Given the description of an element on the screen output the (x, y) to click on. 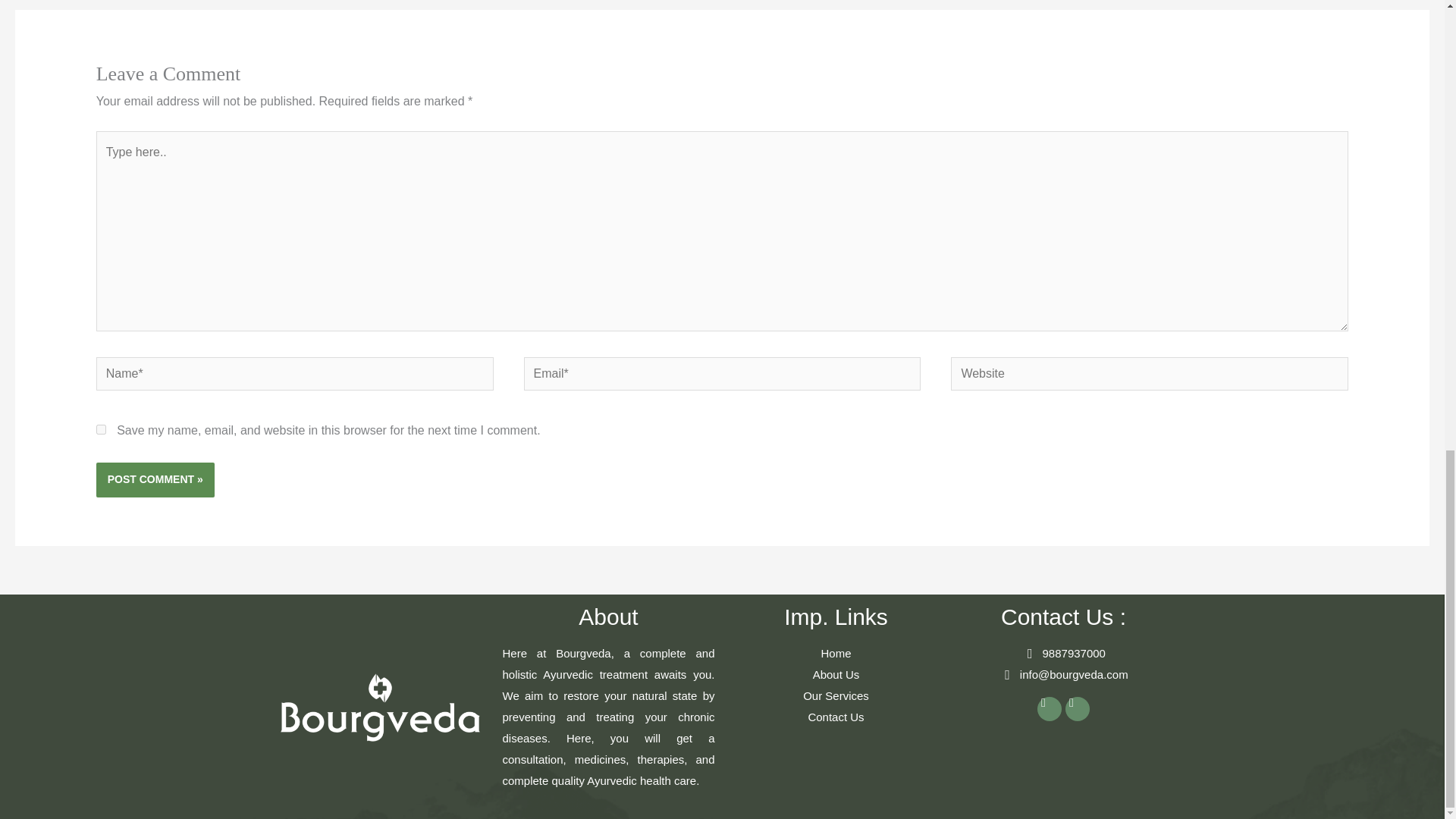
9887937000 (1062, 653)
Home (835, 653)
Contact Us (835, 717)
Our Services (835, 695)
About Us (835, 674)
yes (101, 429)
